Given the description of an element on the screen output the (x, y) to click on. 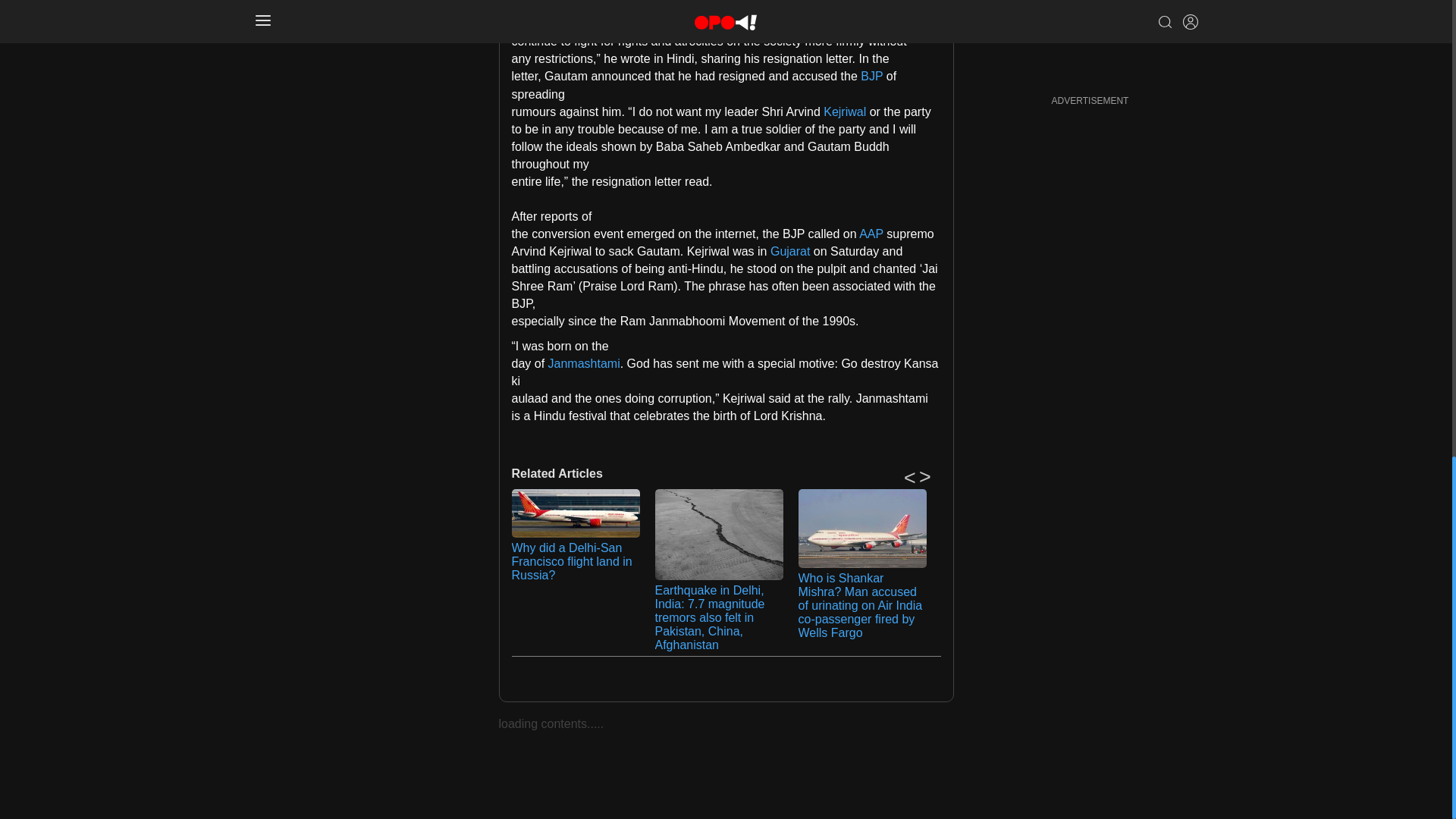
Why did a Delhi-San Francisco flight land in Russia? (575, 512)
